Given the description of an element on the screen output the (x, y) to click on. 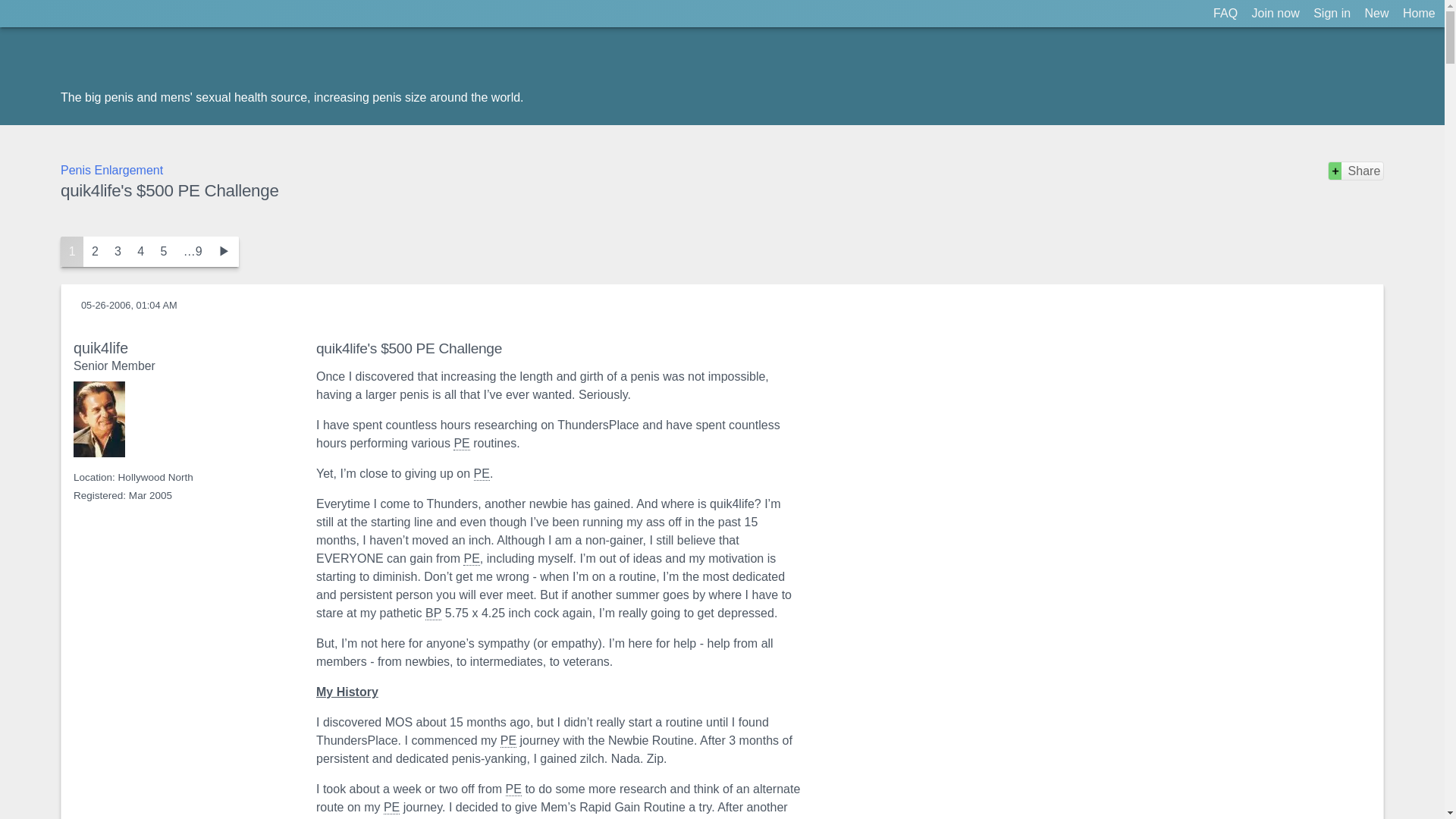
Penis Enlargement (481, 473)
Share (1355, 170)
Penis Enlargement (391, 807)
Thunder's Place (145, 65)
Penis Enlargement (112, 169)
Penis Enlargement (513, 789)
9 (191, 251)
Penis Enlargement (460, 443)
Penis Enlargement (508, 740)
Penis Enlargement (471, 558)
Bone Pressed (433, 612)
